Given the description of an element on the screen output the (x, y) to click on. 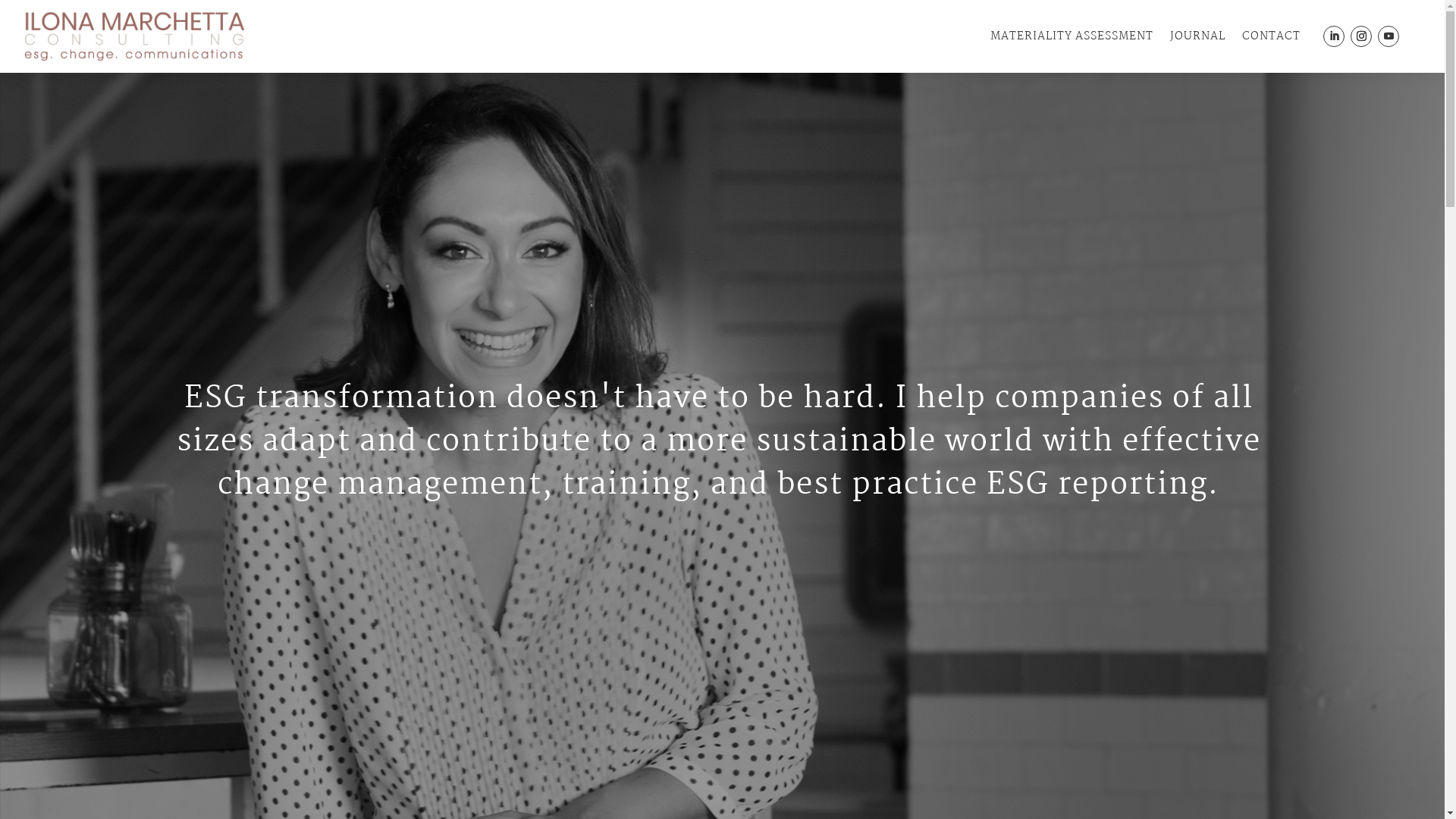
JOURNAL Element type: text (1197, 36)
MATERIALITY ASSESSMENT Element type: text (1071, 36)
Follow on Youtube Element type: hover (1388, 36)
Follow on LinkedIn Element type: hover (1333, 36)
Follow on Instagram Element type: hover (1360, 36)
CONTACT Element type: text (1271, 36)
